Given the description of an element on the screen output the (x, y) to click on. 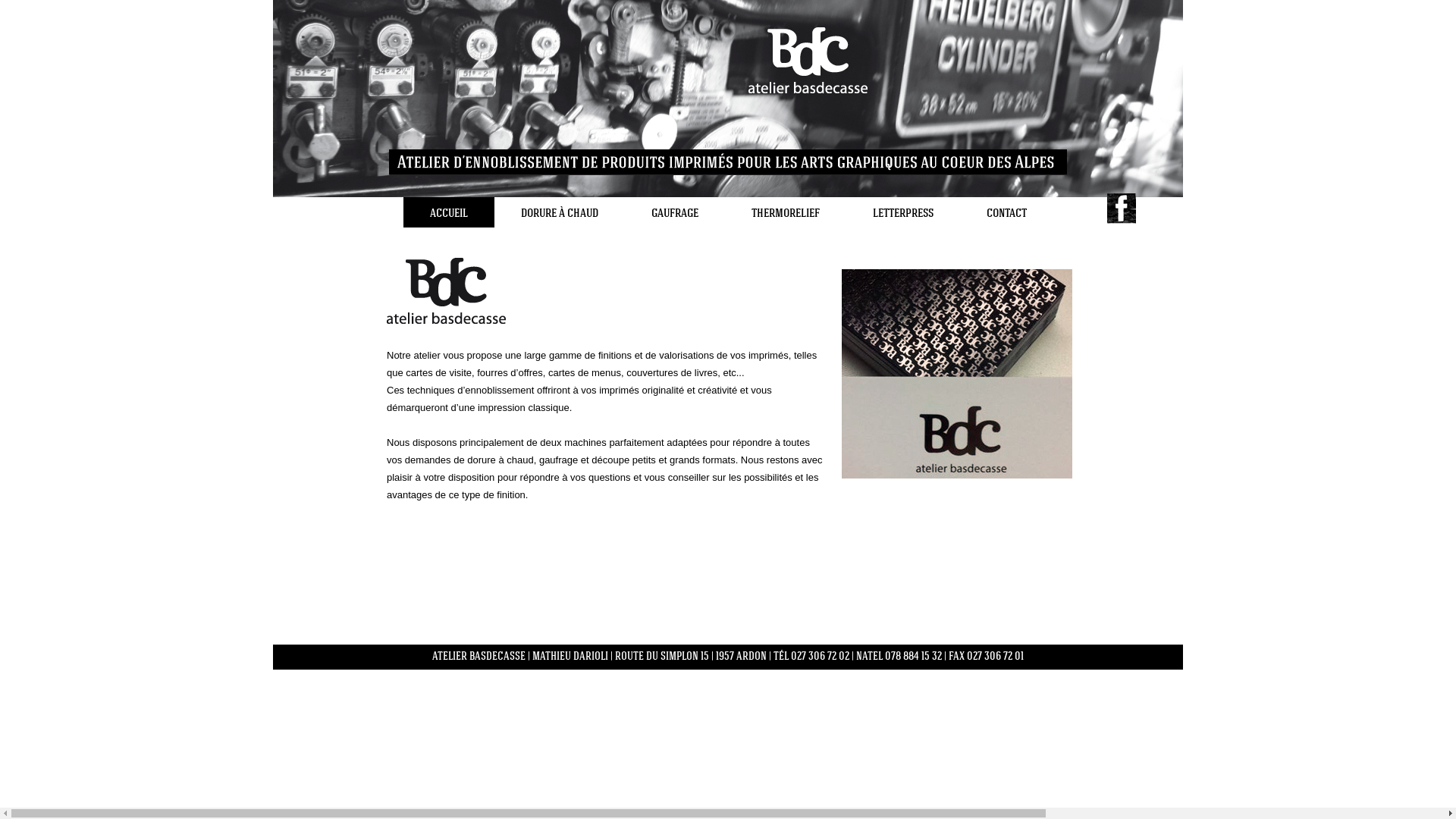
CONTACT Element type: text (1006, 212)
LETTERPRESS Element type: text (903, 212)
ACCUEIL Element type: text (448, 212)
GAUFRAGE Element type: text (674, 212)
THERMORELIEF Element type: text (785, 212)
